Given the description of an element on the screen output the (x, y) to click on. 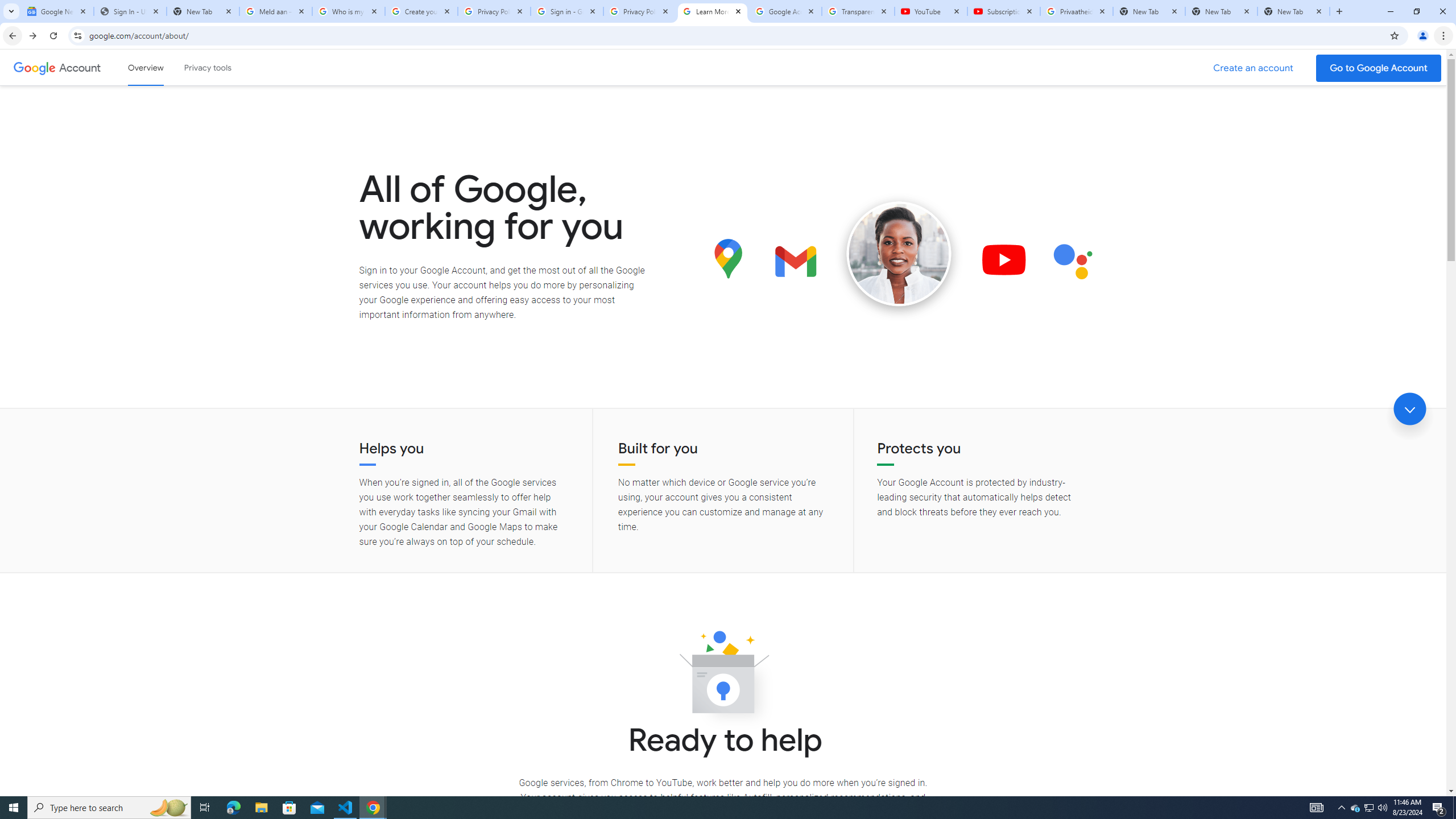
PowerPoint (591, 227)
Excel (569, 227)
OneNote (612, 227)
Office Theme (315, 154)
Back (59, 54)
About Word (576, 385)
New (59, 118)
